Given the description of an element on the screen output the (x, y) to click on. 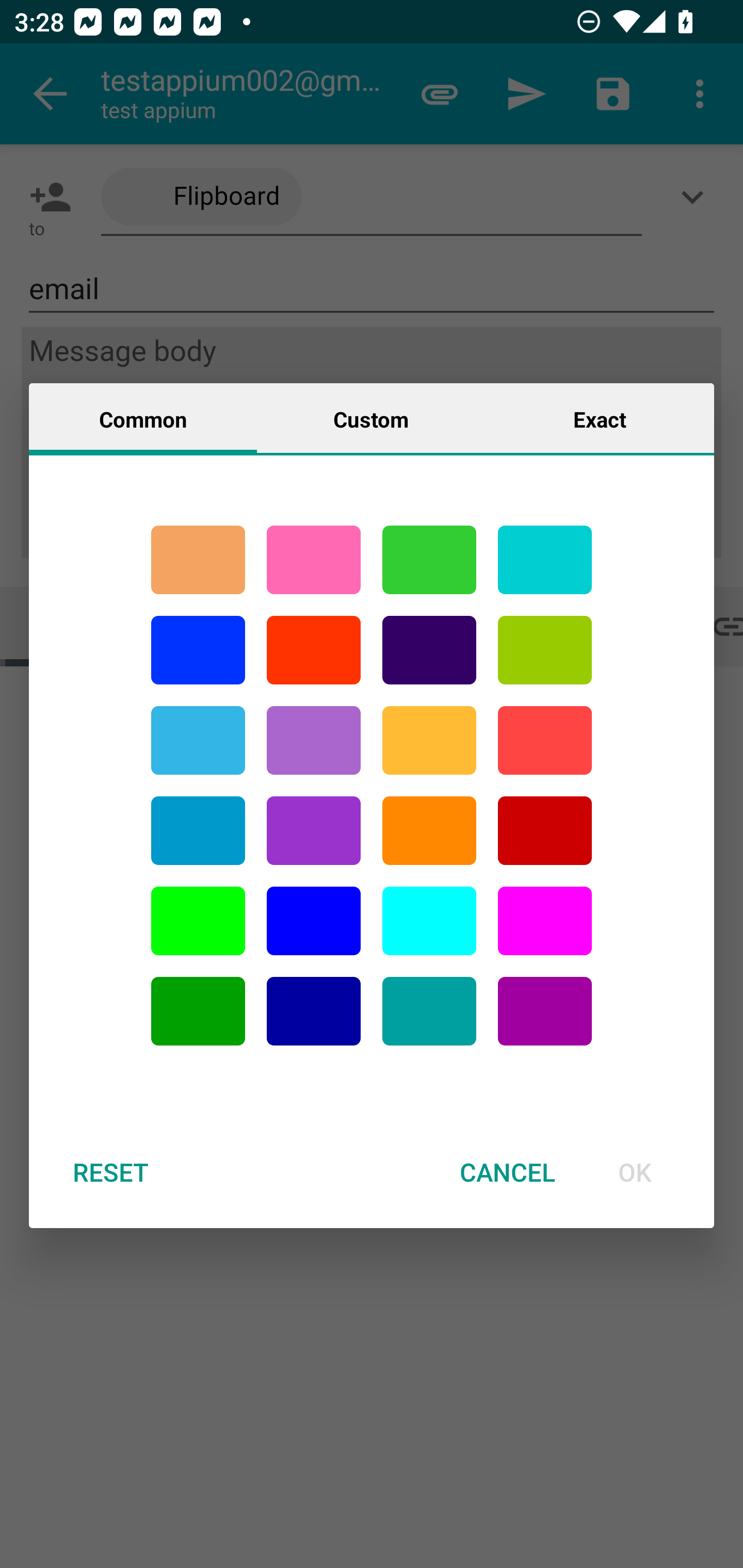
Common (142, 418)
Custom (371, 418)
Exact (599, 418)
Peach (197, 559)
Pink (313, 559)
Green (429, 559)
Cyan (544, 559)
Blue (197, 649)
Red (313, 649)
Dark purple (429, 649)
Light green (544, 649)
Cyan (197, 739)
Purple (313, 739)
Light orange (429, 739)
Light red (544, 739)
Dark cyan (197, 830)
Purple (313, 830)
Orange (429, 830)
Dark red (544, 830)
Light green (197, 920)
Blue (313, 920)
Light cyan (429, 920)
Light purple (544, 920)
Dark green (197, 1010)
Dark blue (313, 1010)
Cyan (429, 1010)
Purple (544, 1010)
RESET (110, 1171)
CANCEL (507, 1171)
OK (634, 1171)
